Given the description of an element on the screen output the (x, y) to click on. 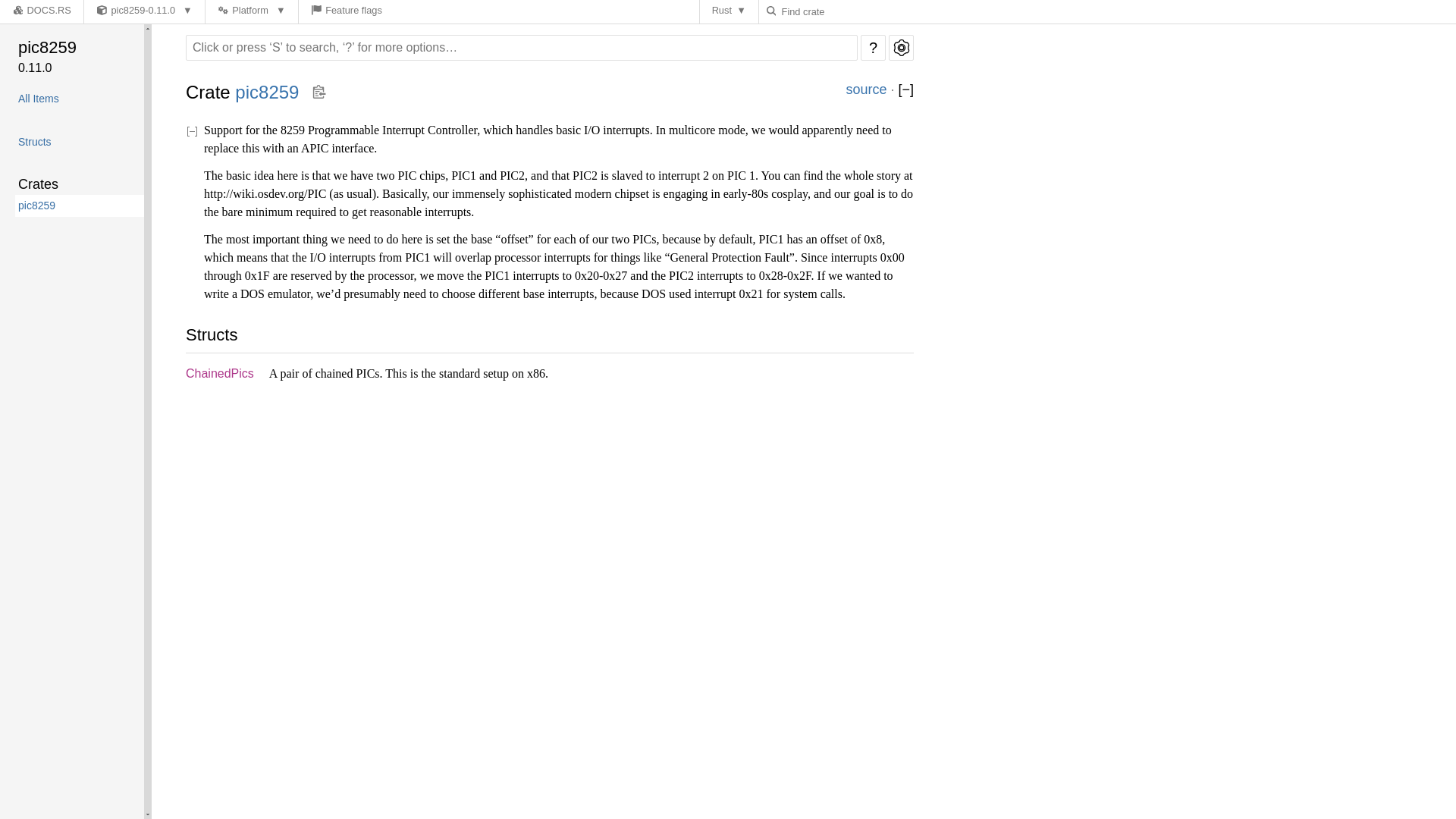
? (872, 47)
struct pic8259::ChainedPics (219, 373)
Browse available feature flags of pic8259-0.11.0 (346, 11)
Rust (729, 11)
ChainedPics (219, 373)
pic8259 (78, 47)
DOCS.RS (41, 11)
Platform (251, 11)
Feature flags (346, 11)
All Items (77, 98)
Copy item path to clipboard (318, 92)
Structs (77, 142)
source (865, 89)
help (872, 47)
settings (901, 47)
